Given the description of an element on the screen output the (x, y) to click on. 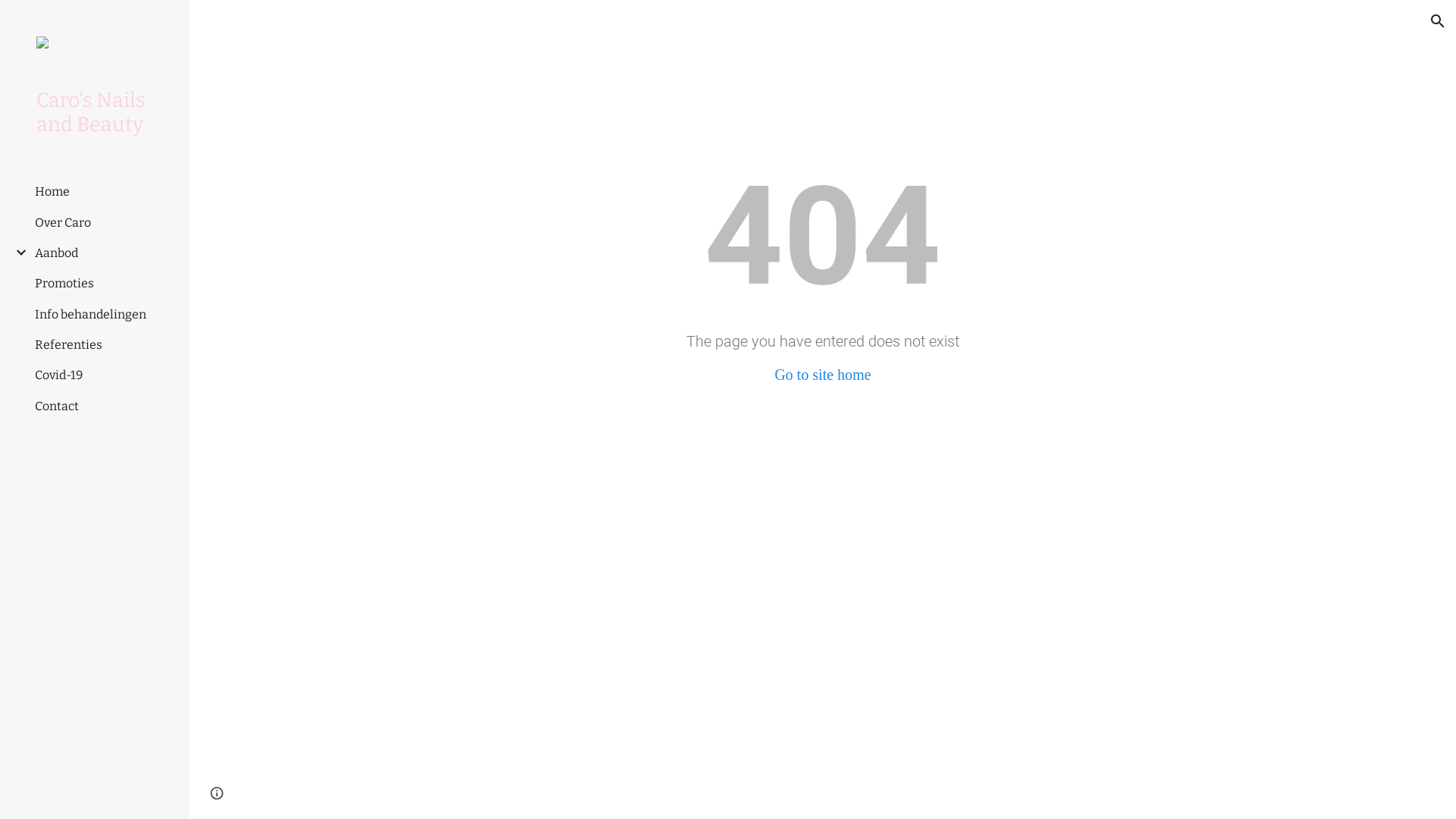
Contact Element type: text (56, 405)
Info behandelingen Element type: text (90, 314)
Promoties Element type: text (64, 283)
Covid-19 Element type: text (58, 374)
Expand/Collapse Element type: hover (16, 252)
Home Element type: text (52, 191)
Referenties Element type: text (68, 344)
Caro's Nails and Beauty Element type: text (100, 111)
Over Caro Element type: text (62, 222)
Go to site home Element type: text (822, 374)
Aanbod Element type: text (56, 252)
